Given the description of an element on the screen output the (x, y) to click on. 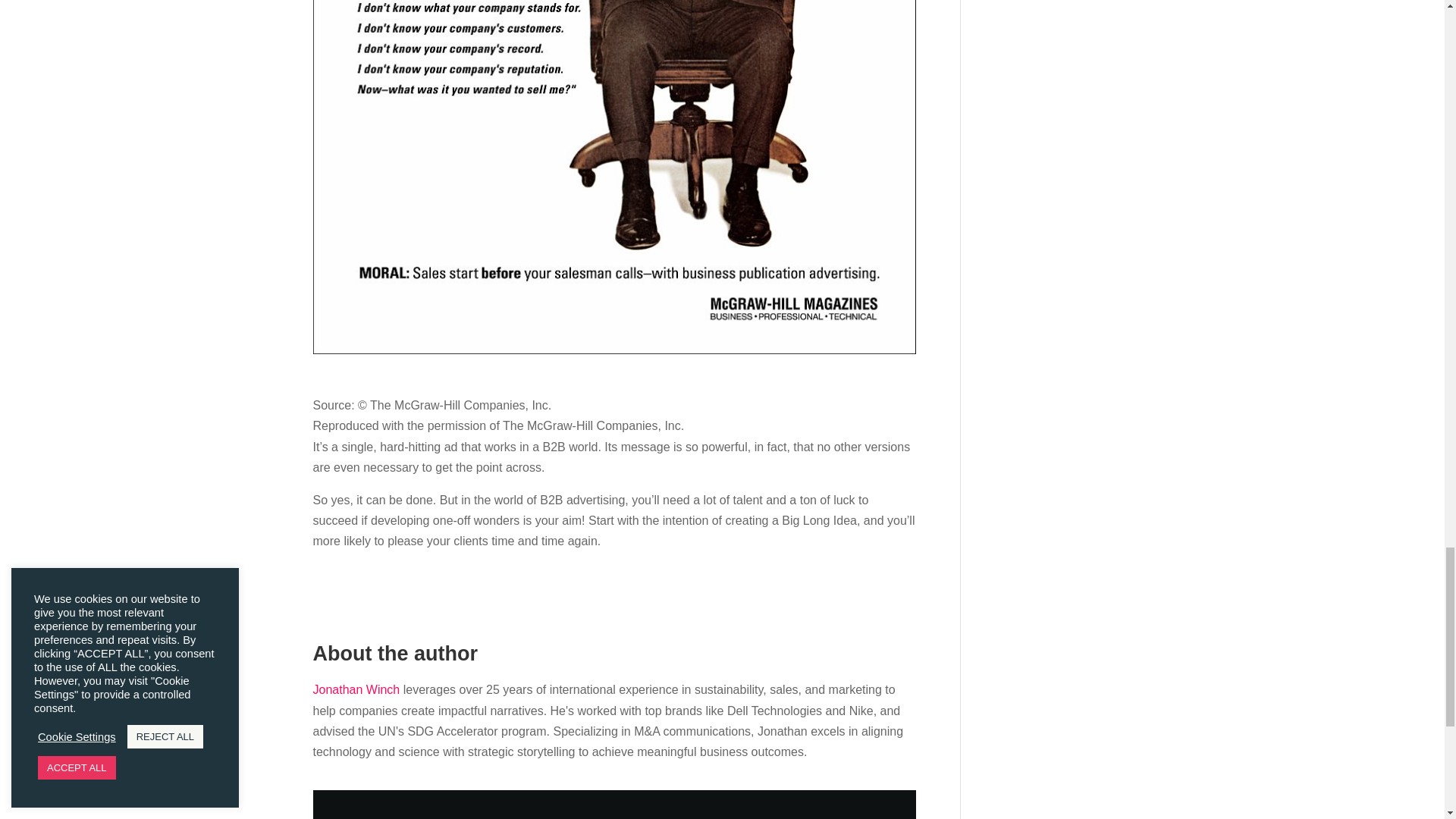
Jonathan Winch (355, 689)
